Given the description of an element on the screen output the (x, y) to click on. 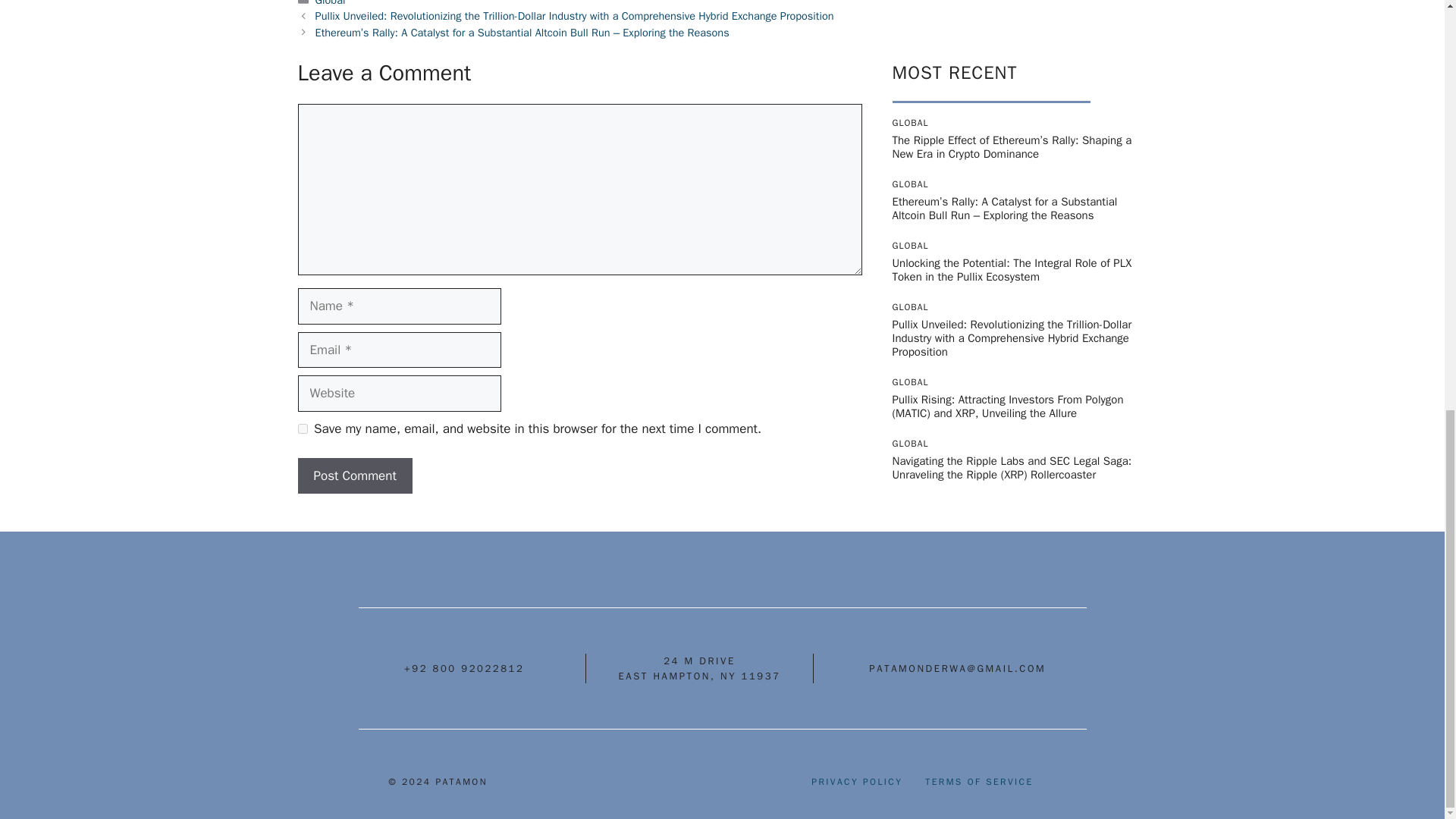
yes (302, 429)
Post Comment (354, 475)
TERMS OF SERVICE (978, 781)
Post Comment (354, 475)
PRIVACY POLICY (856, 781)
Global (330, 3)
